Given the description of an element on the screen output the (x, y) to click on. 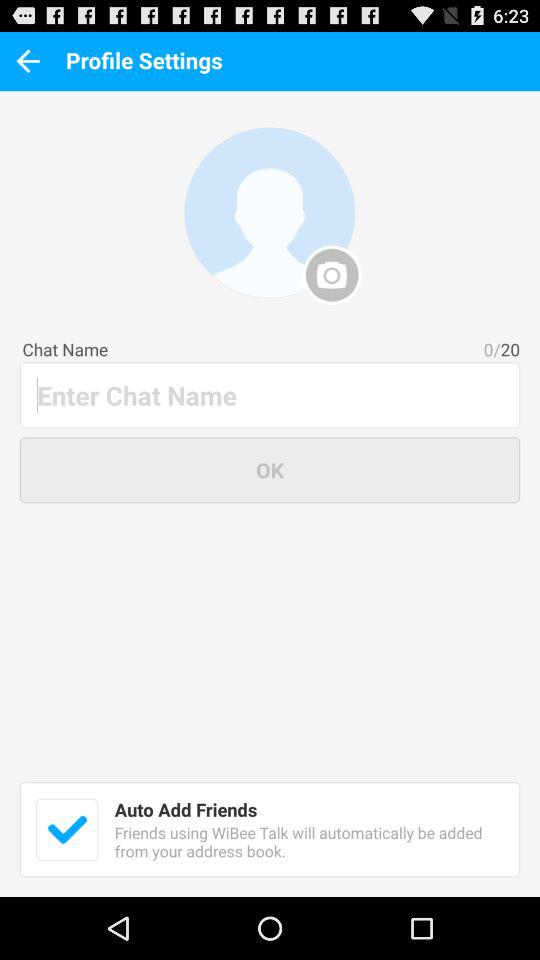
go to search (271, 394)
